Given the description of an element on the screen output the (x, y) to click on. 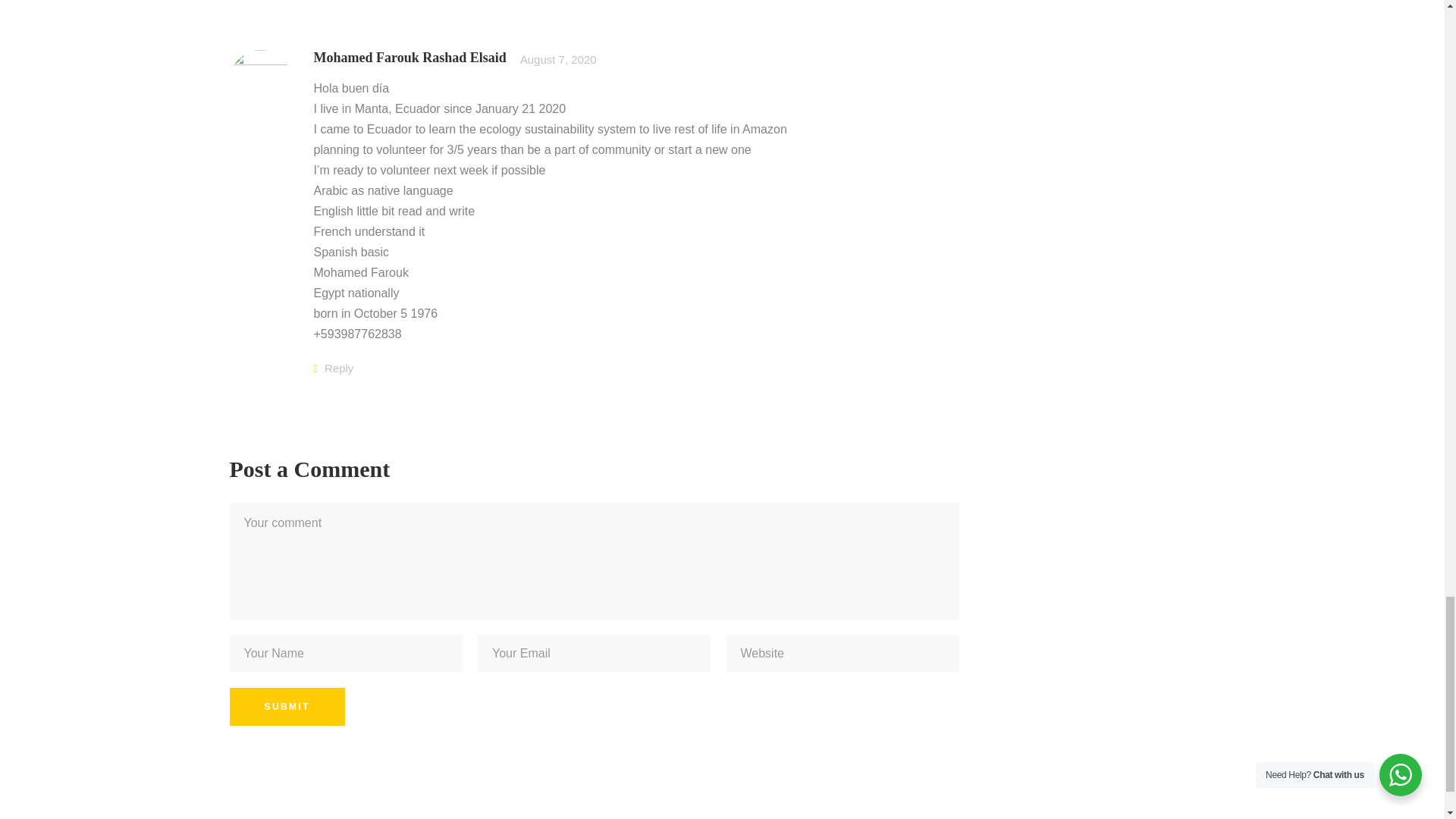
Submit (285, 706)
